Given the description of an element on the screen output the (x, y) to click on. 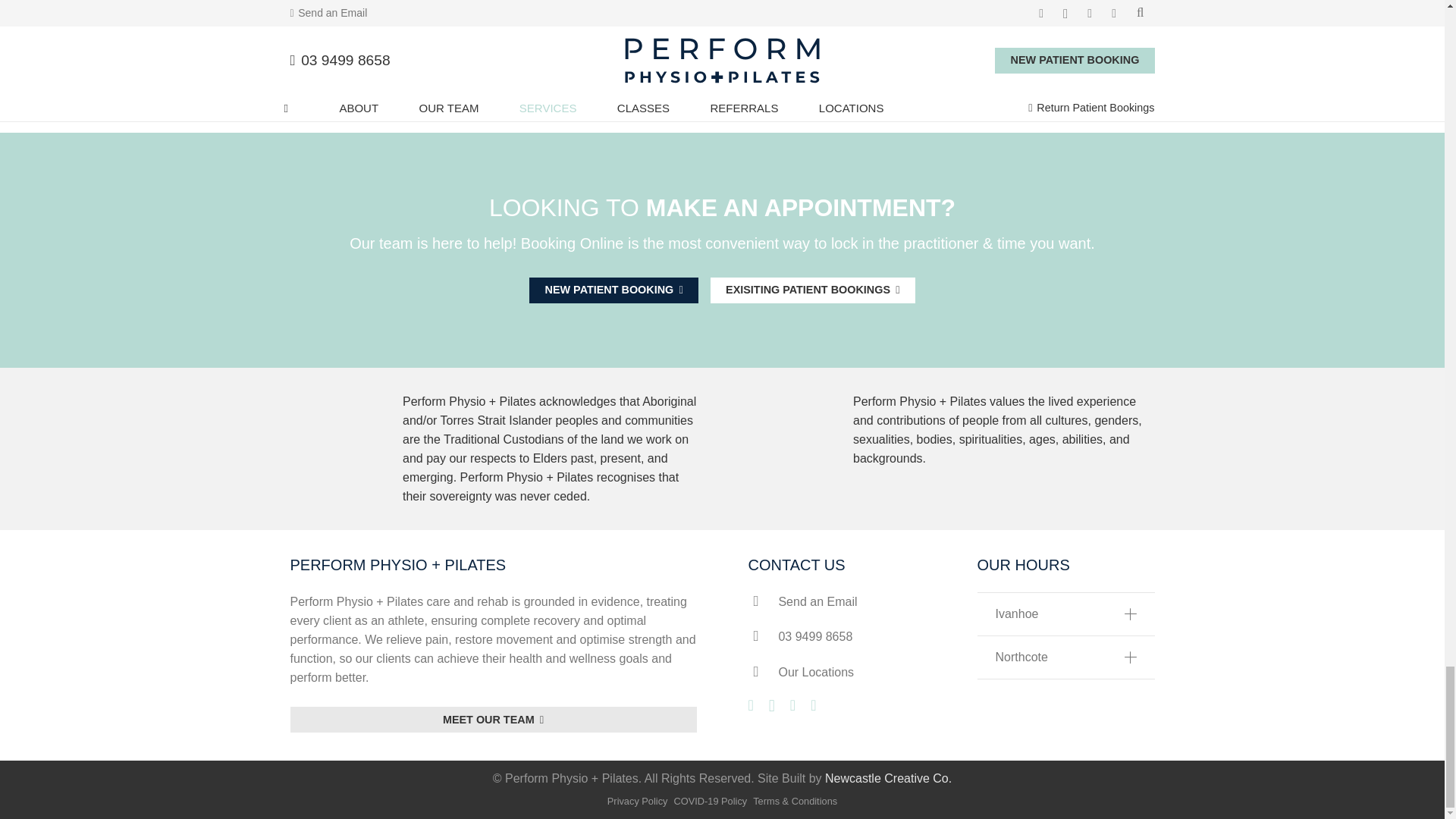
Book Online (492, 719)
Book Online (613, 290)
Submit (1021, 44)
